Given the description of an element on the screen output the (x, y) to click on. 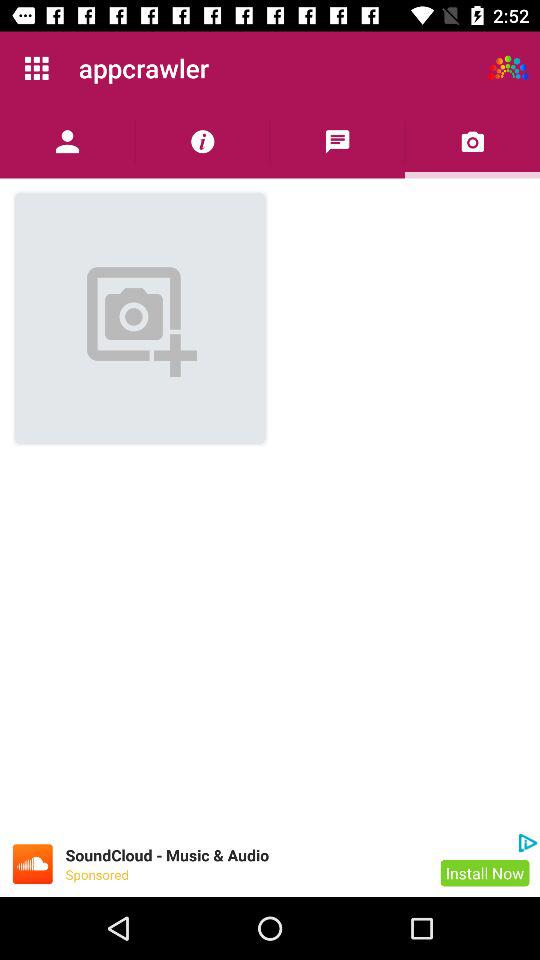
add photo (472, 141)
